Given the description of an element on the screen output the (x, y) to click on. 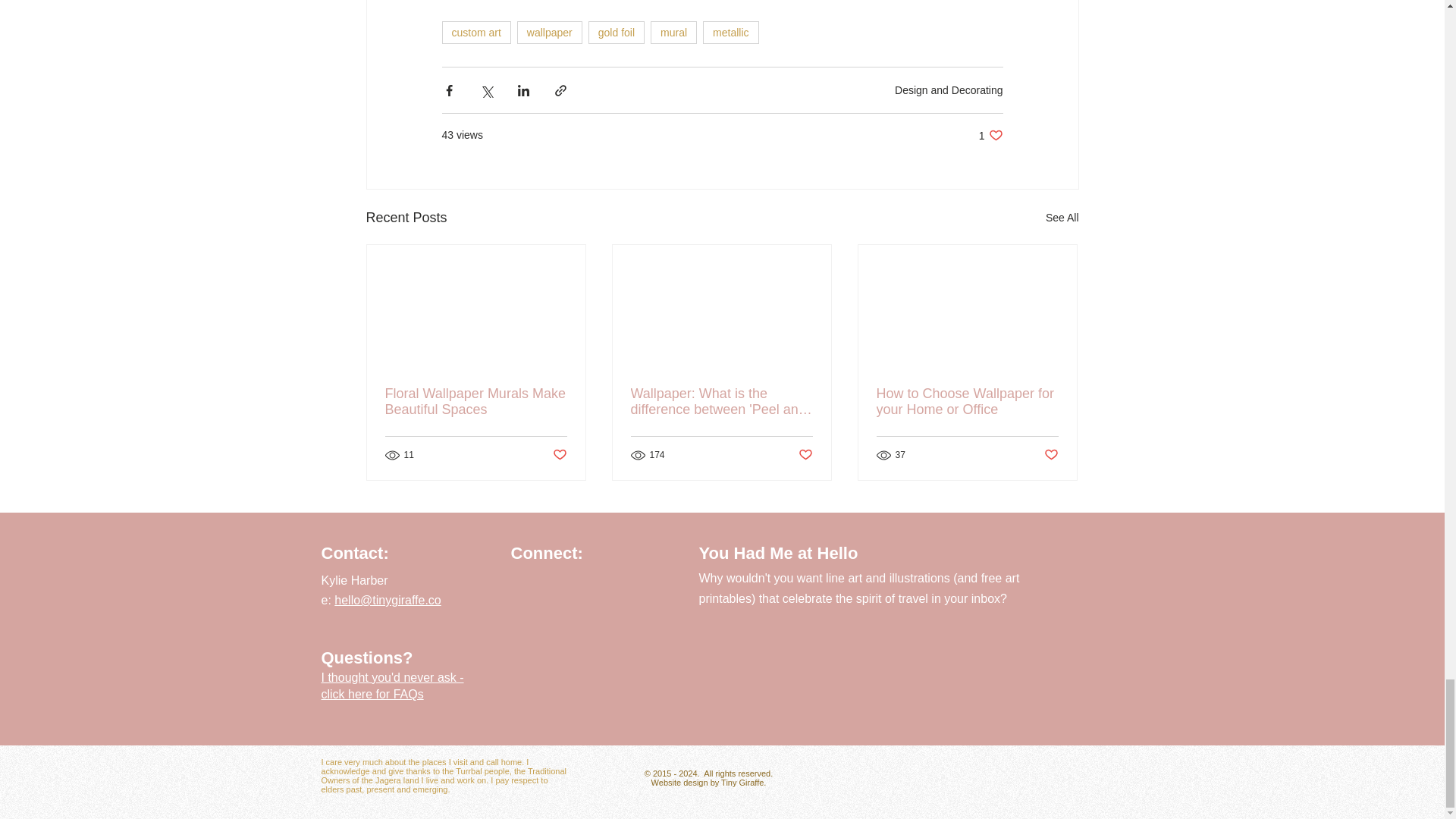
gold foil (616, 32)
wallpaper (990, 134)
mural (549, 32)
See All (673, 32)
custom art (1061, 218)
Design and Decorating (476, 32)
metallic (949, 90)
Post not marked as liked (730, 32)
Floral Wallpaper Murals Make Beautiful Spaces (558, 455)
